Given the description of an element on the screen output the (x, y) to click on. 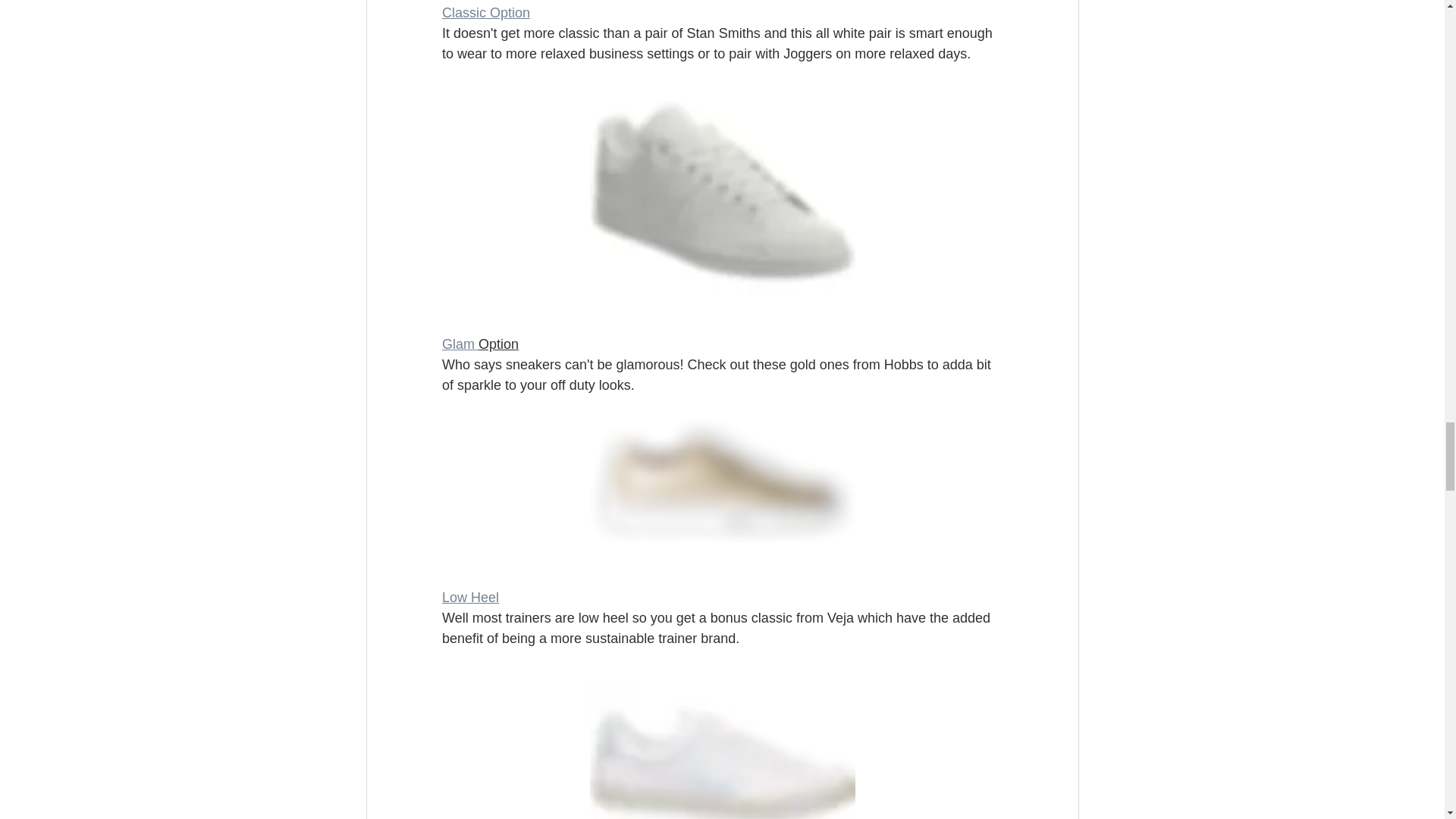
Low Heel (469, 597)
Glam  (459, 344)
Classic Option (485, 11)
